Given the description of an element on the screen output the (x, y) to click on. 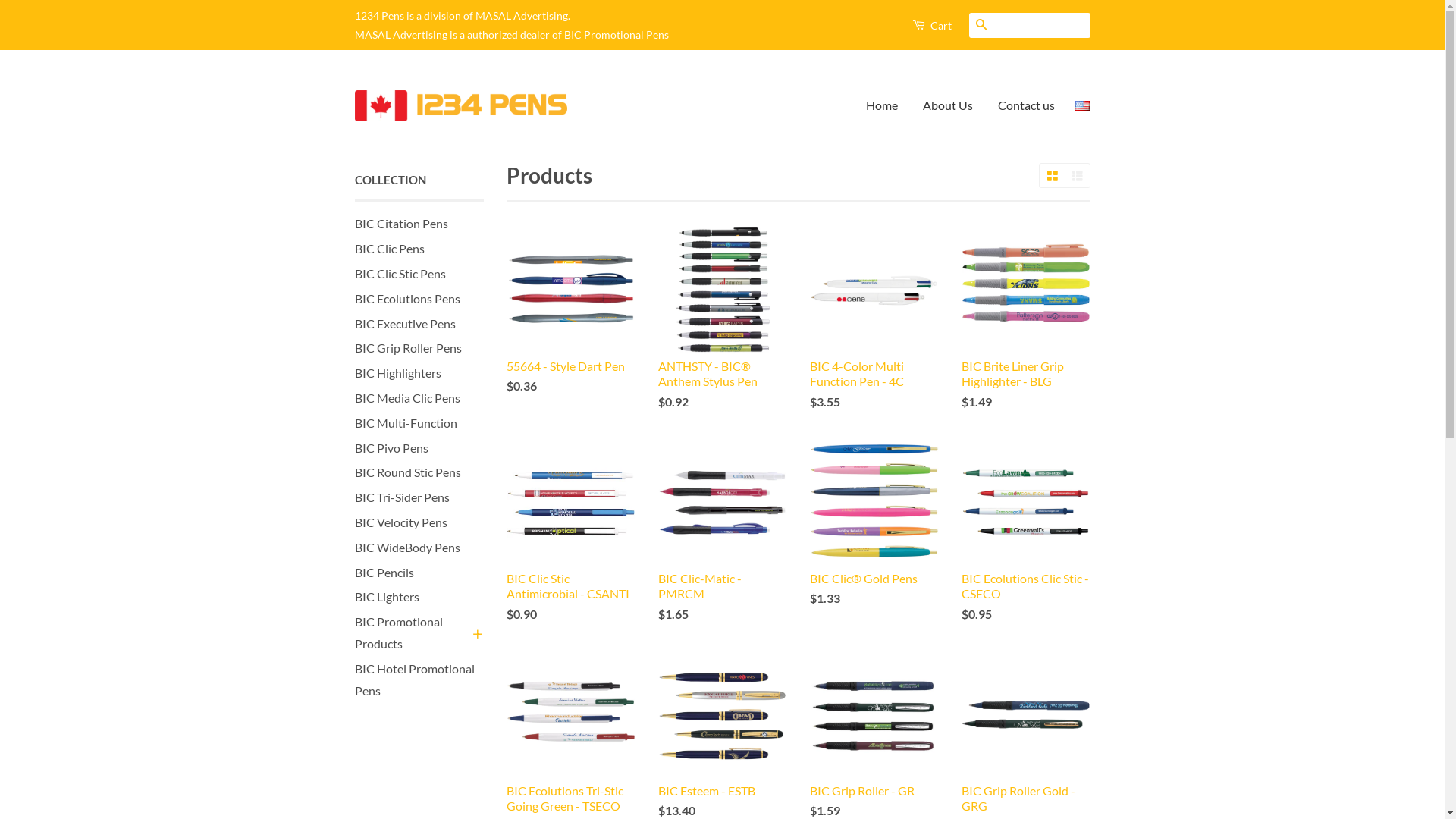
Search Element type: text (981, 24)
BIC Clic-Matic - PMRCM
$1.65 Element type: text (722, 543)
BIC Clic Stic Pens Element type: text (399, 273)
BIC Tri-Sider Pens Element type: text (401, 496)
BIC 4-Color Multi Function Pen - 4C
$3.55 Element type: text (873, 331)
BIC Brite Liner Grip Highlighter - BLG
$1.49 Element type: text (1025, 331)
BIC Citation Pens Element type: text (401, 223)
BIC Promotional Products Element type: text (411, 633)
BIC Pencils Element type: text (384, 571)
BIC Grip Roller Pens Element type: text (407, 347)
BIC Pivo Pens Element type: text (391, 447)
55664 - Style Dart Pen
$0.36 Element type: text (570, 323)
Contact us Element type: text (1020, 105)
BIC Hotel Promotional Pens Element type: text (414, 679)
List View Element type: text (1076, 175)
BIC Clic Stic Antimicrobial - CSANTI
$0.90 Element type: text (570, 543)
BIC Media Clic Pens Element type: text (407, 397)
Grid View Element type: text (1050, 175)
BIC WideBody Pens Element type: text (407, 546)
BIC Ecolutions Pens Element type: text (407, 298)
About Us Element type: text (947, 105)
BIC Clic Pens Element type: text (389, 248)
BIC Ecolutions Clic Stic - CSECO
$0.95 Element type: text (1025, 543)
BIC Round Stic Pens Element type: text (407, 471)
BIC Lighters Element type: text (386, 596)
BIC Highlighters Element type: text (397, 372)
BIC Multi-Function Element type: text (405, 422)
BIC Executive Pens Element type: text (404, 323)
BIC Velocity Pens Element type: text (400, 521)
+ Element type: text (475, 632)
Home Element type: text (887, 105)
Cart Element type: text (930, 24)
